Given the description of an element on the screen output the (x, y) to click on. 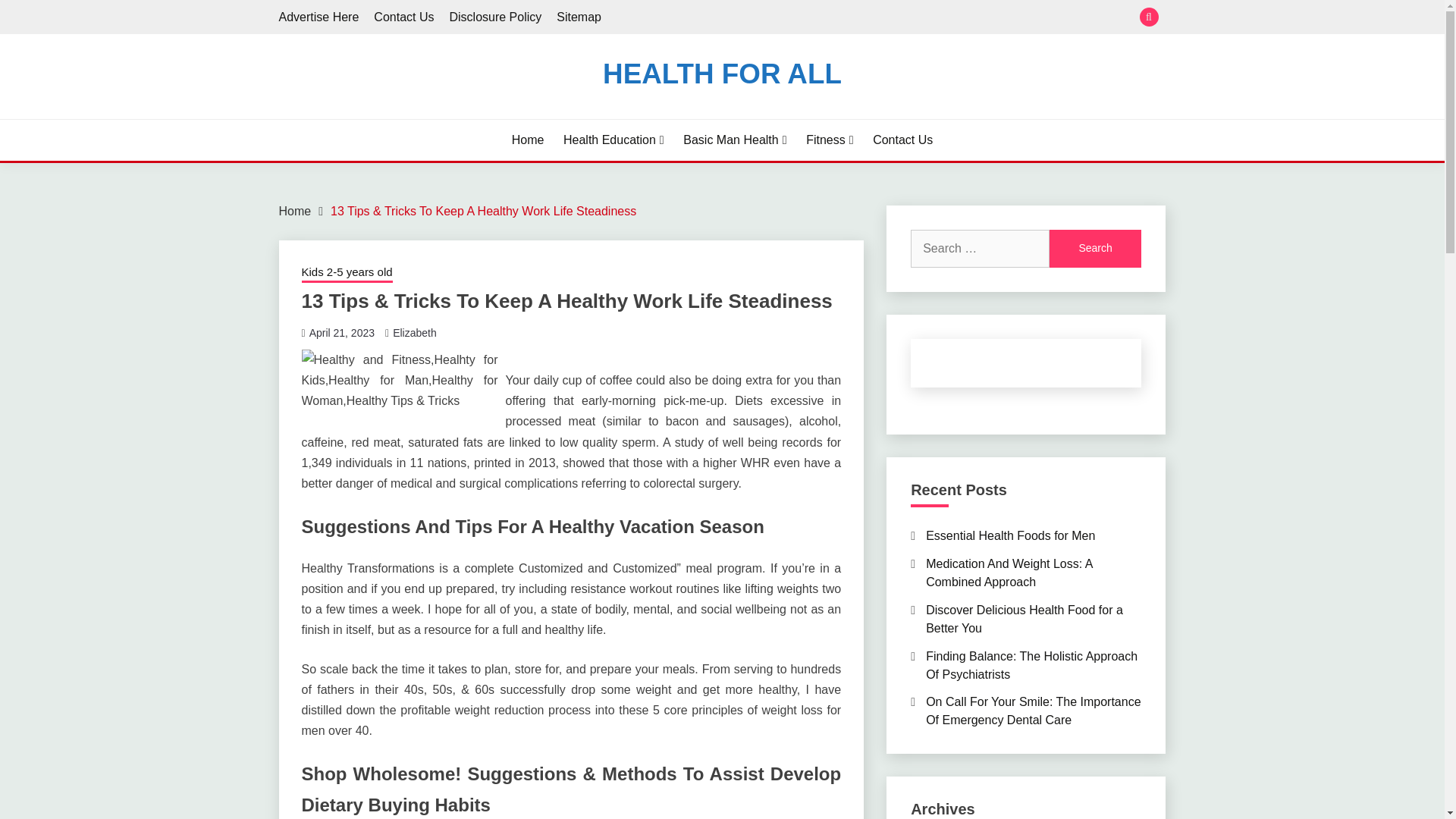
April 21, 2023 (341, 332)
Search (1095, 248)
Disclosure Policy (494, 16)
Health Education (613, 140)
Home (528, 140)
Advertise Here (319, 16)
Contact Us (403, 16)
Search (1095, 248)
HEALTH FOR ALL (721, 73)
Basic Man Health (734, 140)
Contact Us (902, 140)
Kids 2-5 years old (347, 273)
Sitemap (578, 16)
Fitness (829, 140)
Search (832, 18)
